Given the description of an element on the screen output the (x, y) to click on. 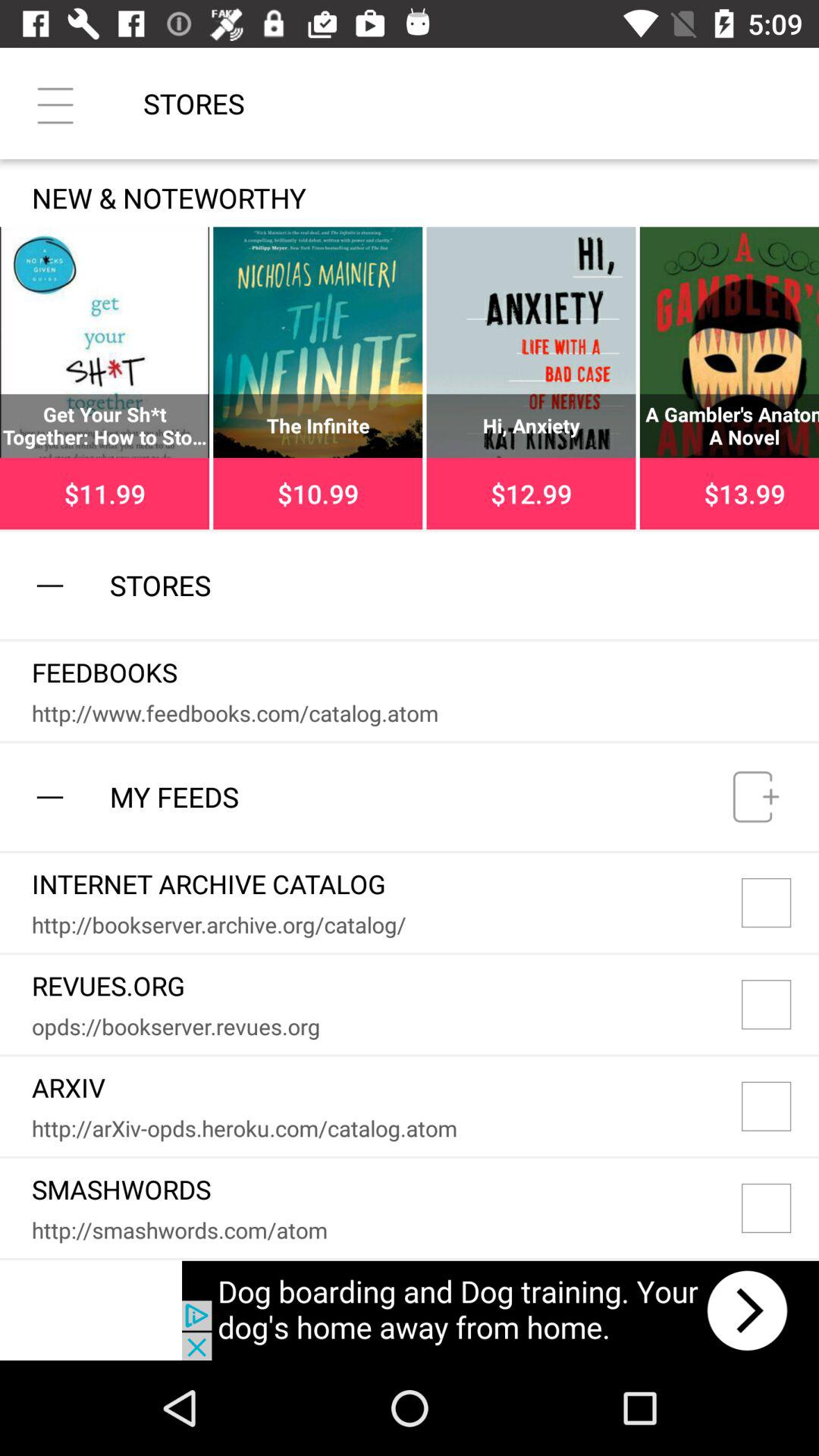
select option (780, 1004)
